Given the description of an element on the screen output the (x, y) to click on. 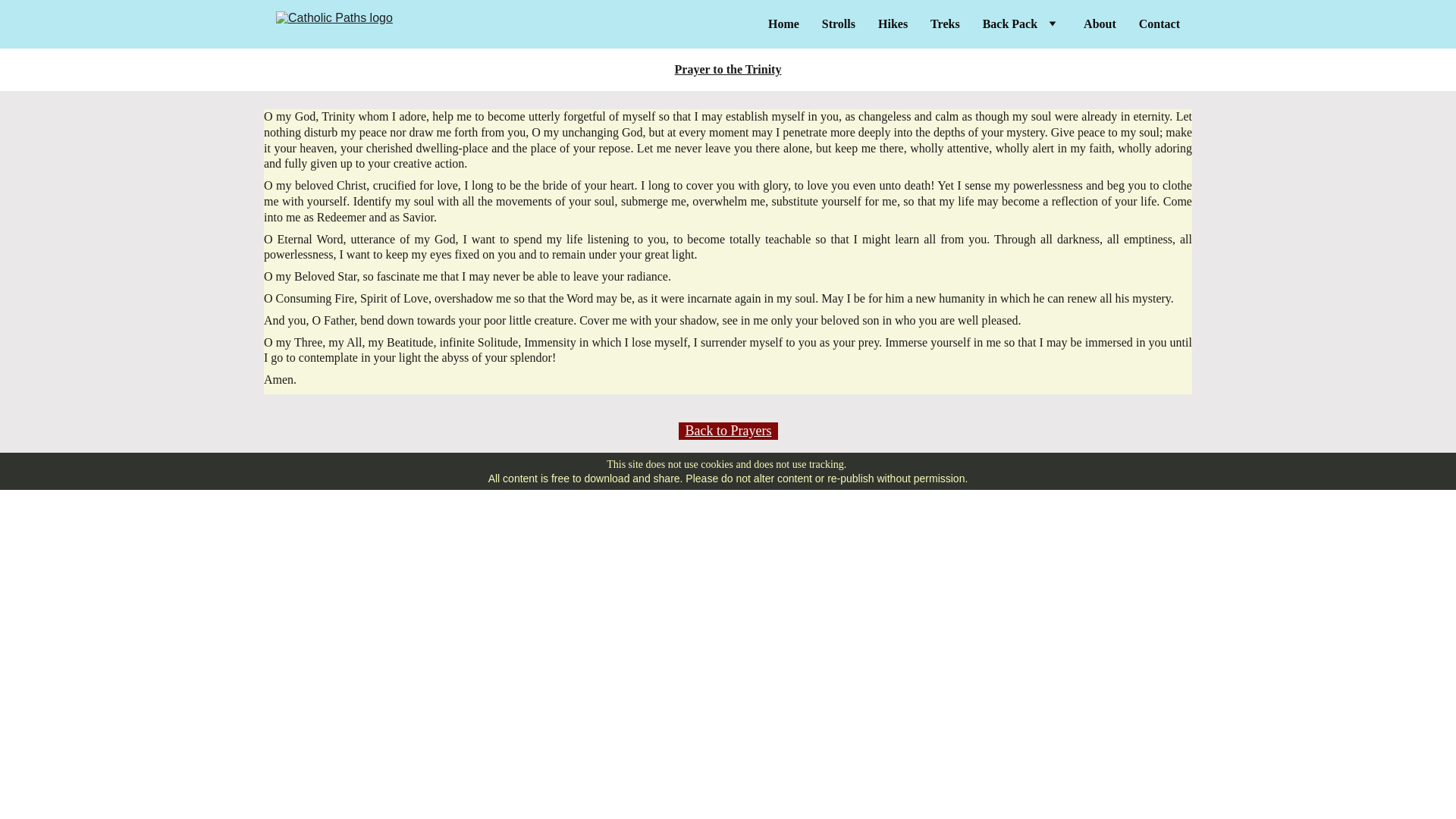
Contact (1158, 24)
Treks (944, 24)
Home (783, 24)
Back to Prayers (728, 430)
Strolls (839, 24)
Hikes (892, 24)
About (1099, 24)
